Given the description of an element on the screen output the (x, y) to click on. 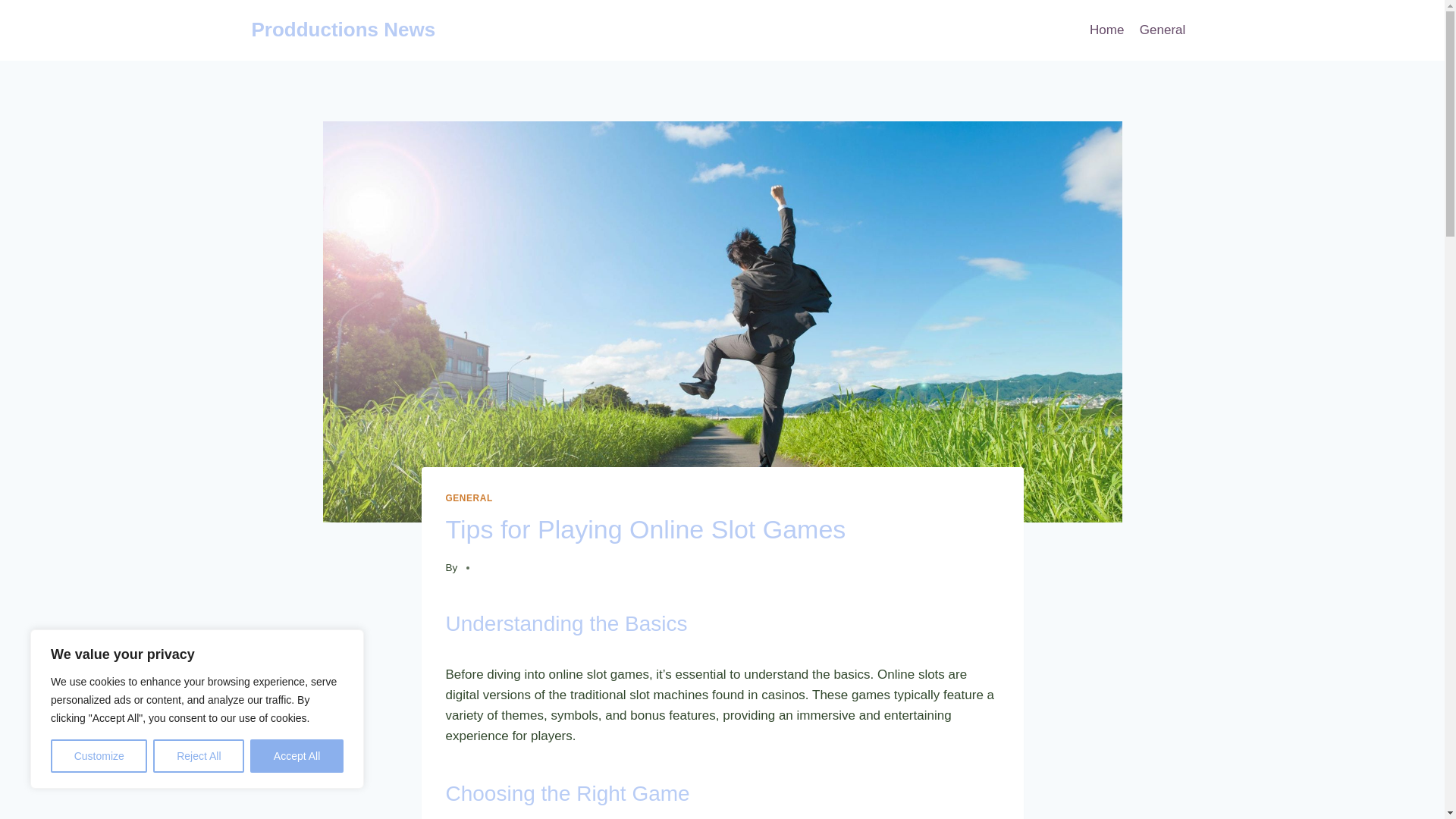
General (1162, 30)
GENERAL (469, 498)
Reject All (198, 756)
Accept All (296, 756)
Customize (98, 756)
Prodductions News (343, 29)
Home (1106, 30)
